Given the description of an element on the screen output the (x, y) to click on. 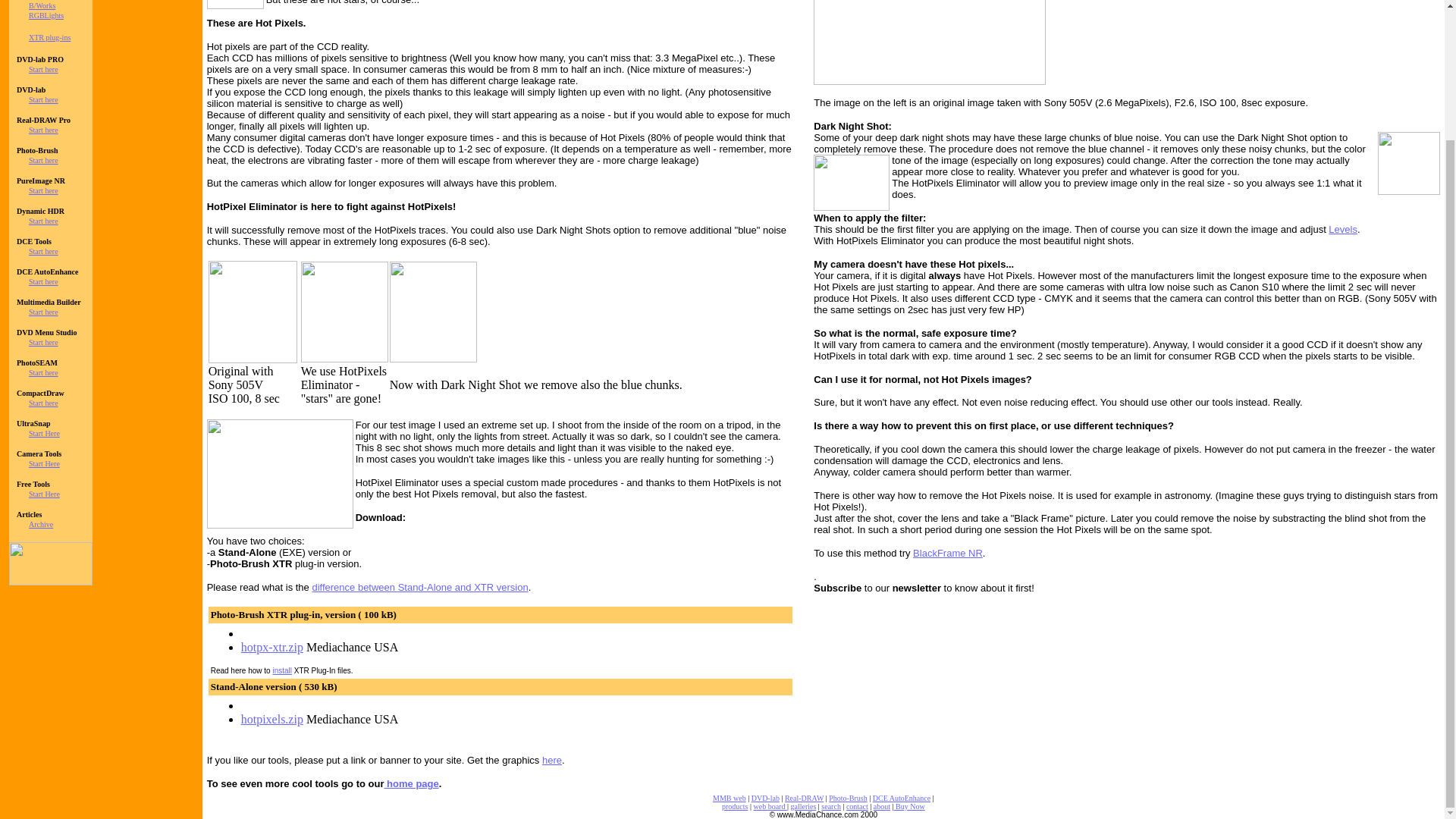
Start here (43, 311)
RGBLights (46, 15)
Start here (43, 160)
Start here (43, 190)
Start here (43, 281)
Start here (43, 221)
XTR plug-ins (49, 37)
Start here (43, 69)
Start here (43, 251)
Start here (43, 99)
